Given the description of an element on the screen output the (x, y) to click on. 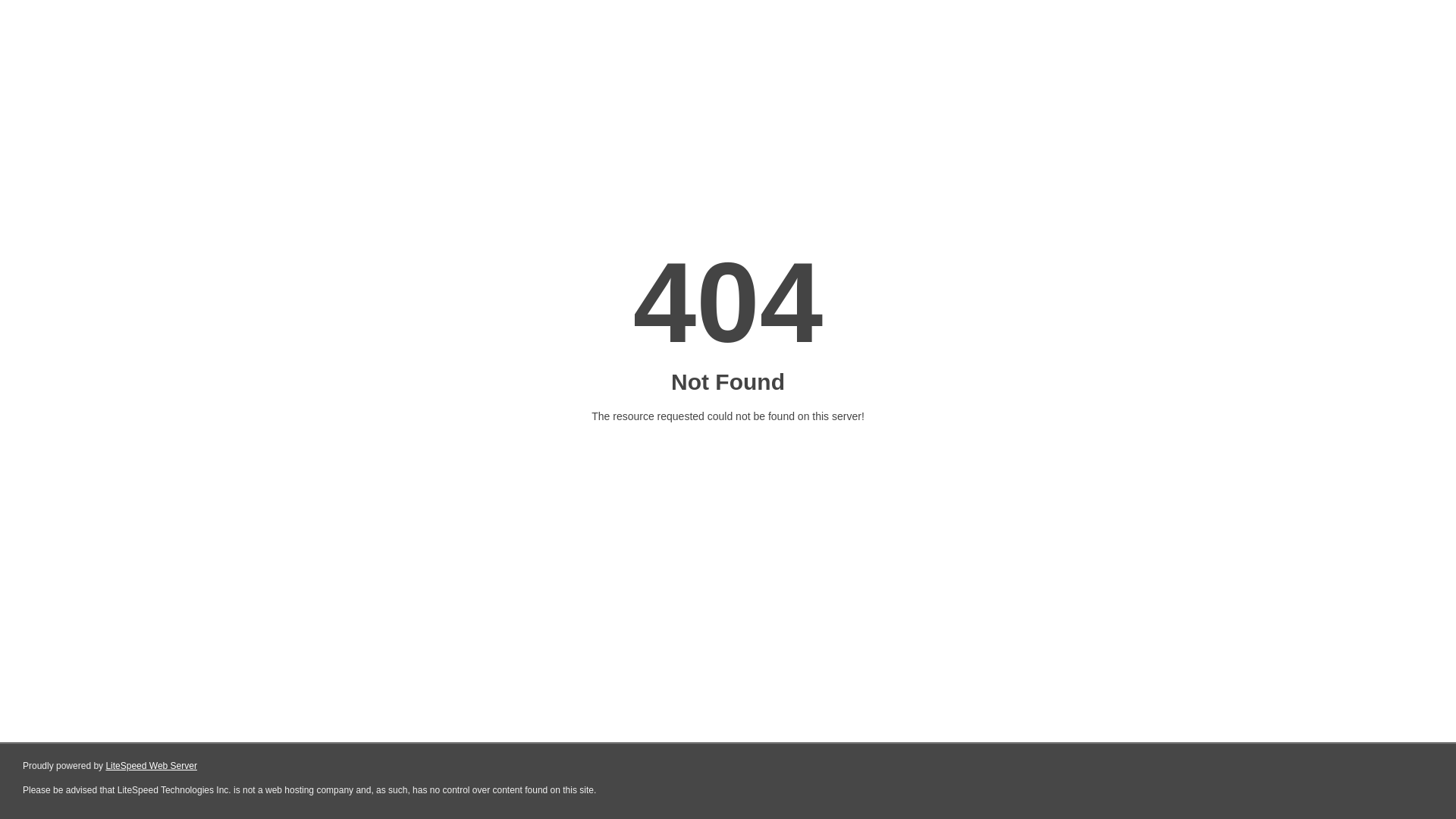
LiteSpeed Web Server Element type: text (151, 765)
